Given the description of an element on the screen output the (x, y) to click on. 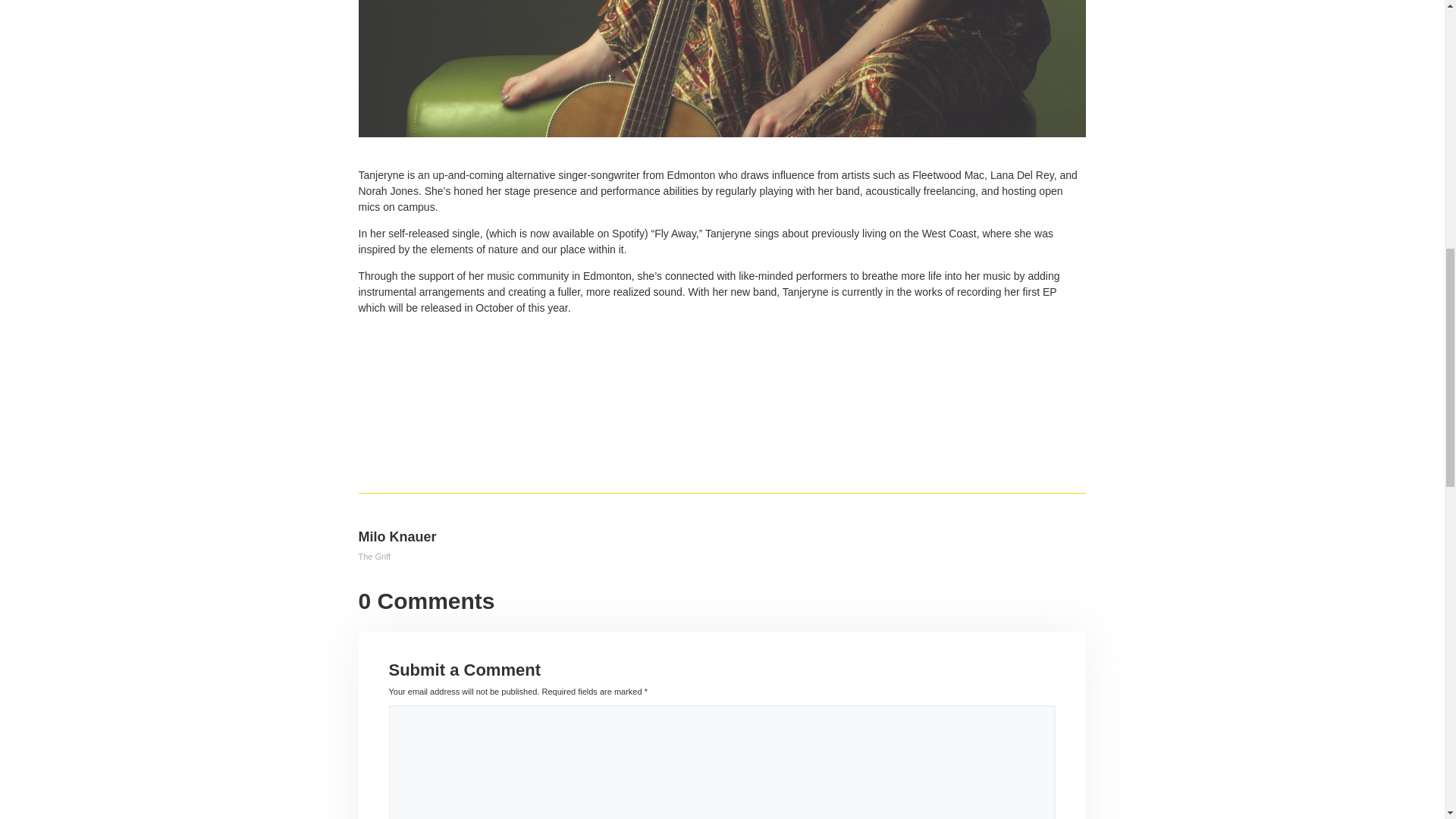
Milo Knauer (396, 536)
Spotify Embed: Fly Away (721, 373)
tanjeryn creative spotlight (721, 68)
